Given the description of an element on the screen output the (x, y) to click on. 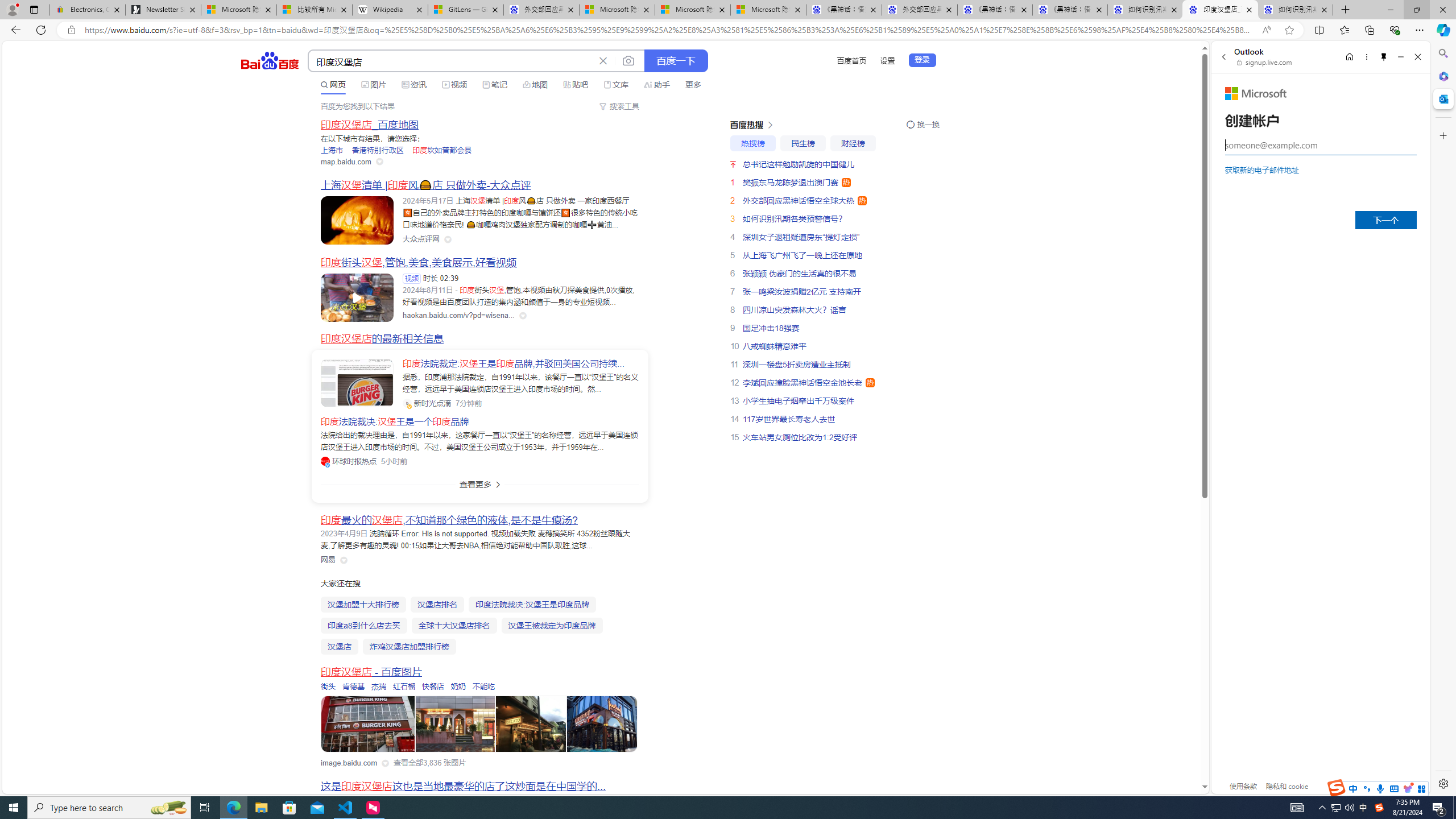
AutomationID: kw (451, 61)
Electronics, Cars, Fashion, Collectibles & More | eBay (87, 9)
